Given the description of an element on the screen output the (x, y) to click on. 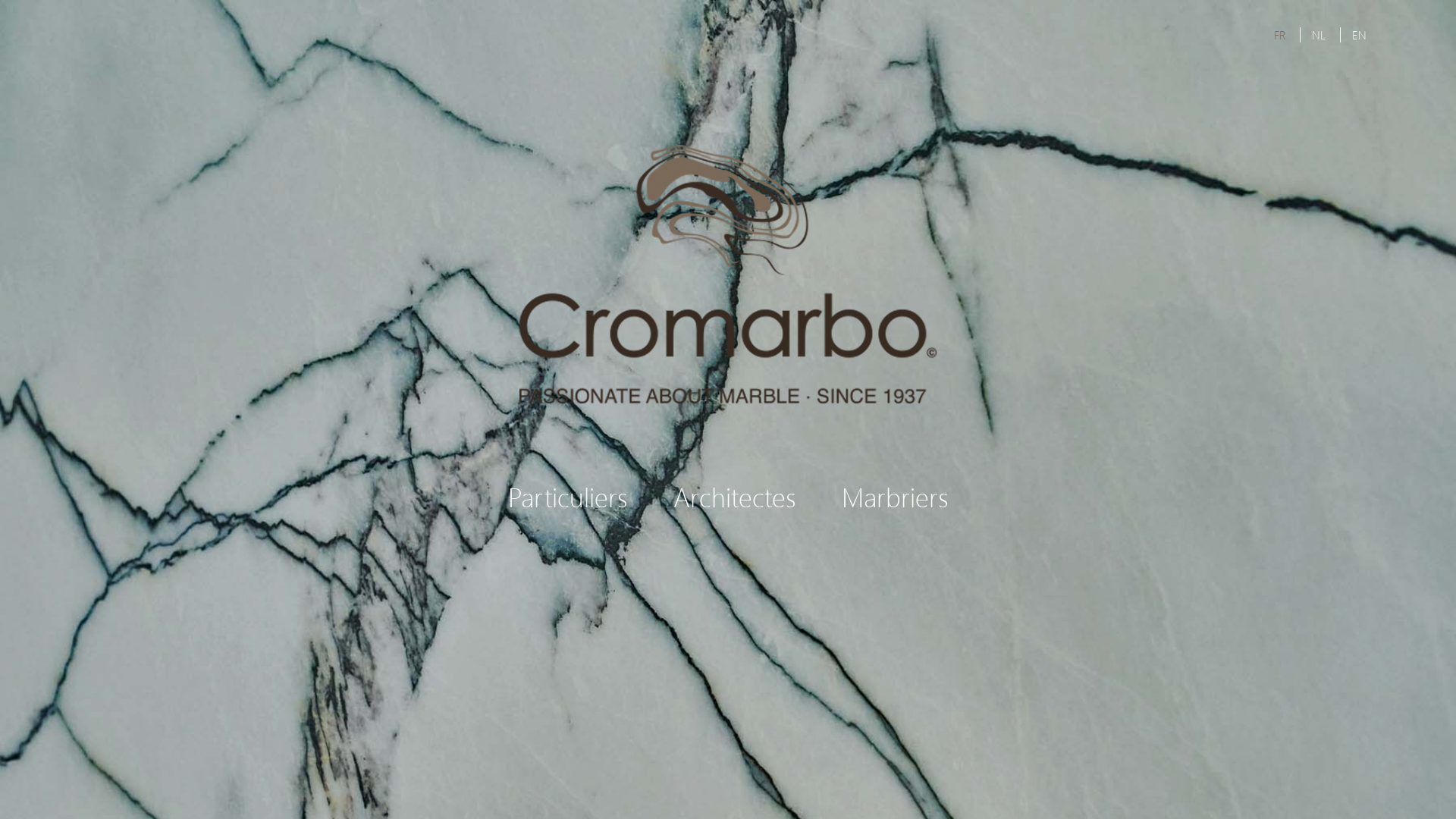
NL Element type: text (1318, 34)
Architectes Element type: text (734, 496)
Marbriers Element type: text (894, 496)
FR Element type: text (1279, 34)
Particuliers Element type: text (567, 496)
EN Element type: text (1359, 34)
